Given the description of an element on the screen output the (x, y) to click on. 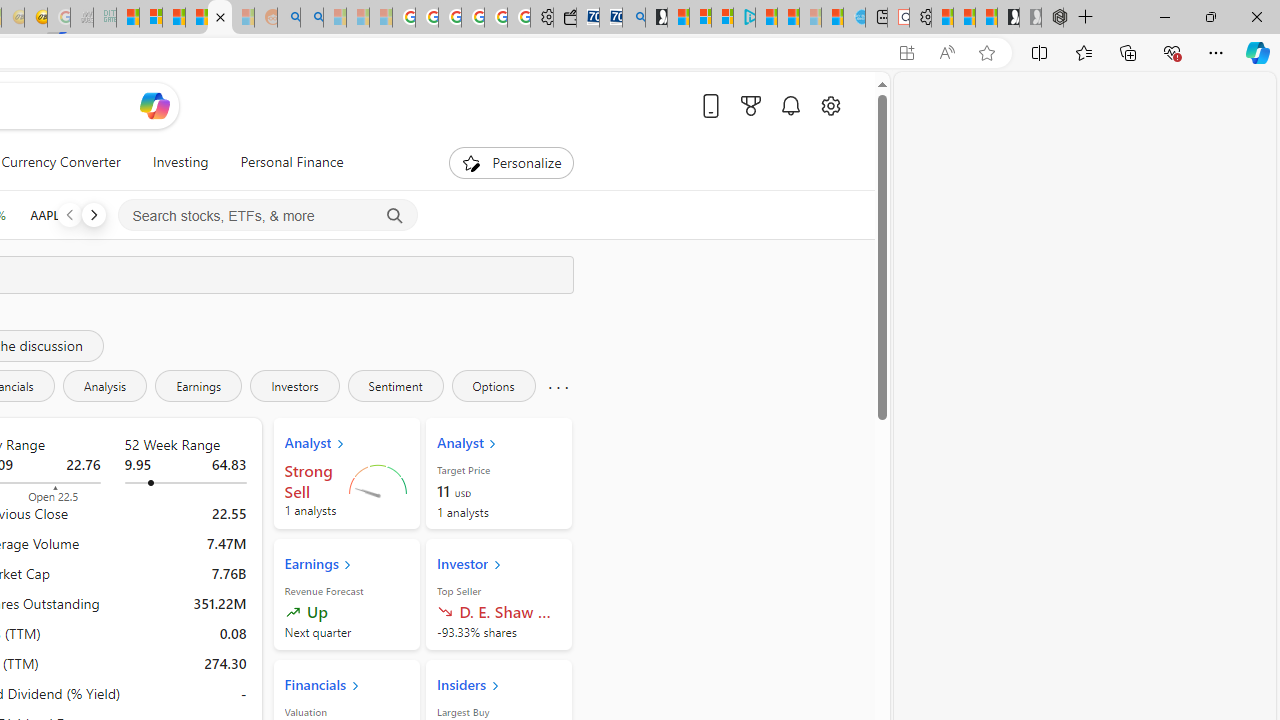
Investors (294, 385)
Search stocks, ETFs, & more (267, 215)
Student Loan Update: Forgiveness Program Ends This Month (196, 17)
AAPL APPLE INC. decrease 224.53 -1.87 -0.83% (75, 214)
Wallet (564, 17)
Earnings (198, 385)
